Given the description of an element on the screen output the (x, y) to click on. 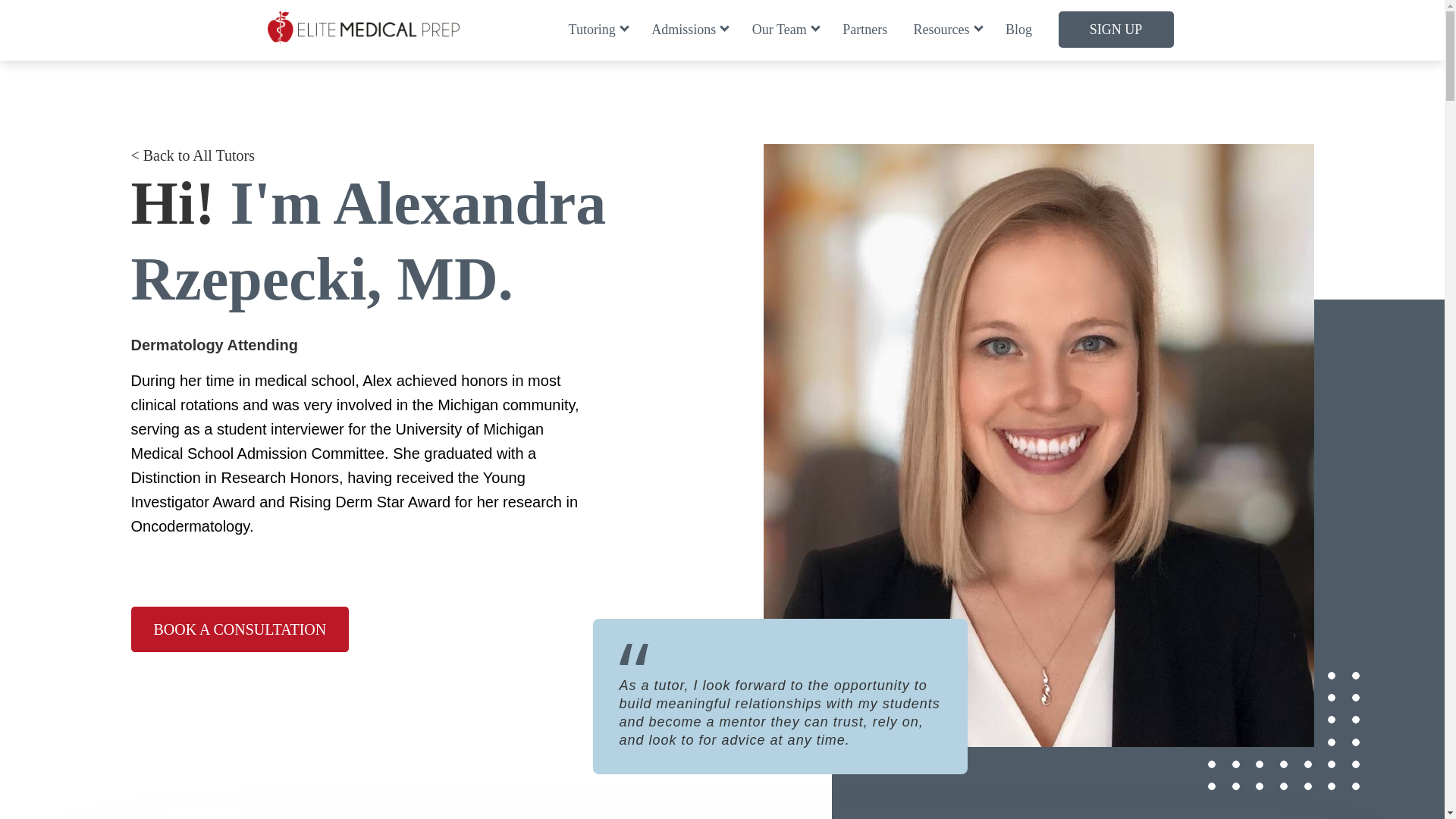
Resources (946, 29)
Tutoring (597, 29)
Partners (864, 29)
BOOK A CONSULTATION (240, 628)
SIGN UP (1115, 29)
Our Team (784, 29)
Admissions (687, 29)
